Given the description of an element on the screen output the (x, y) to click on. 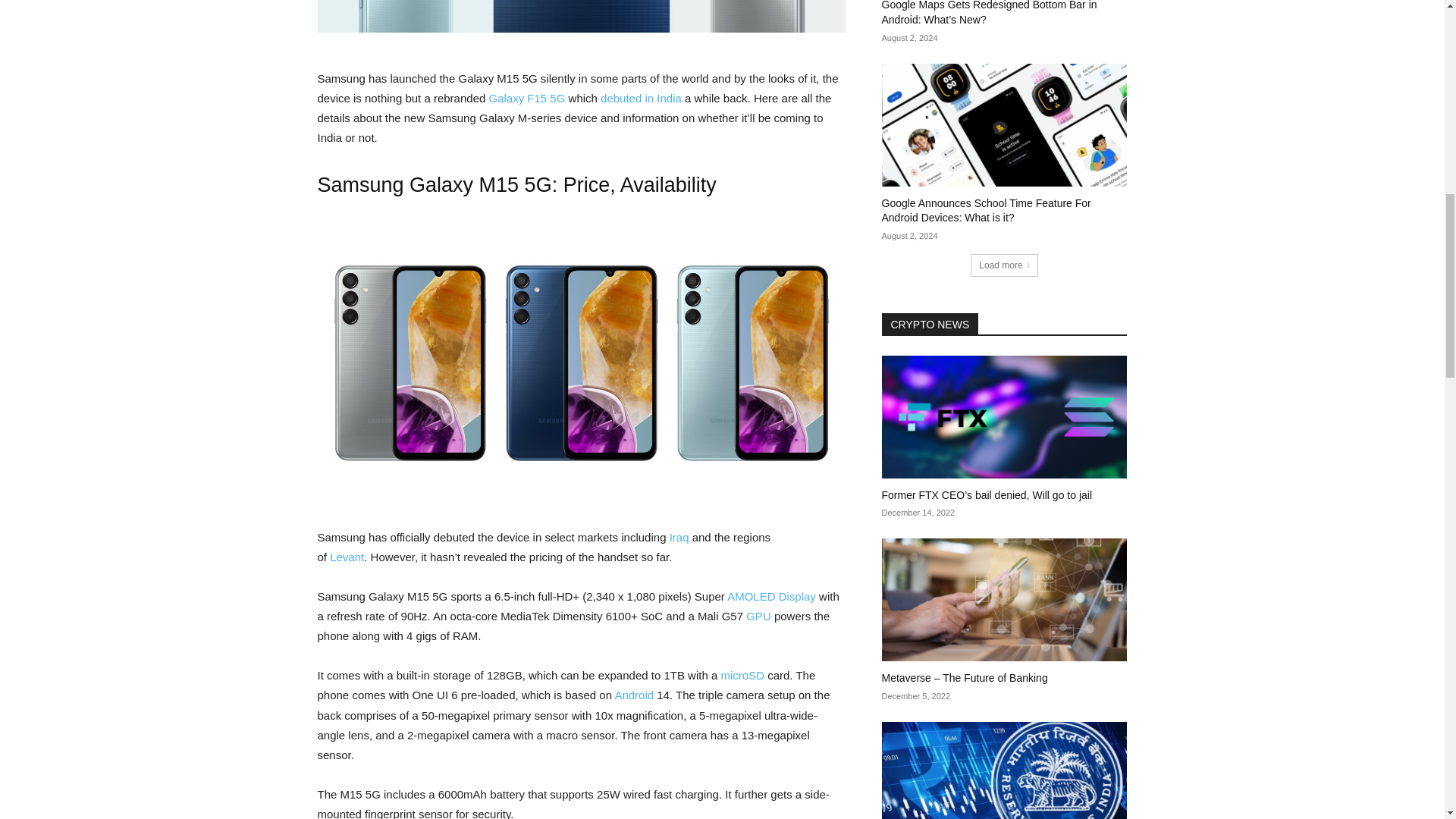
Galaxy F15 5G (525, 97)
debuted in India (640, 97)
Galaxy m15 5g shades (580, 16)
AMOLED Display (770, 595)
Levant (347, 556)
Iraq (678, 536)
GPU (758, 615)
